Given the description of an element on the screen output the (x, y) to click on. 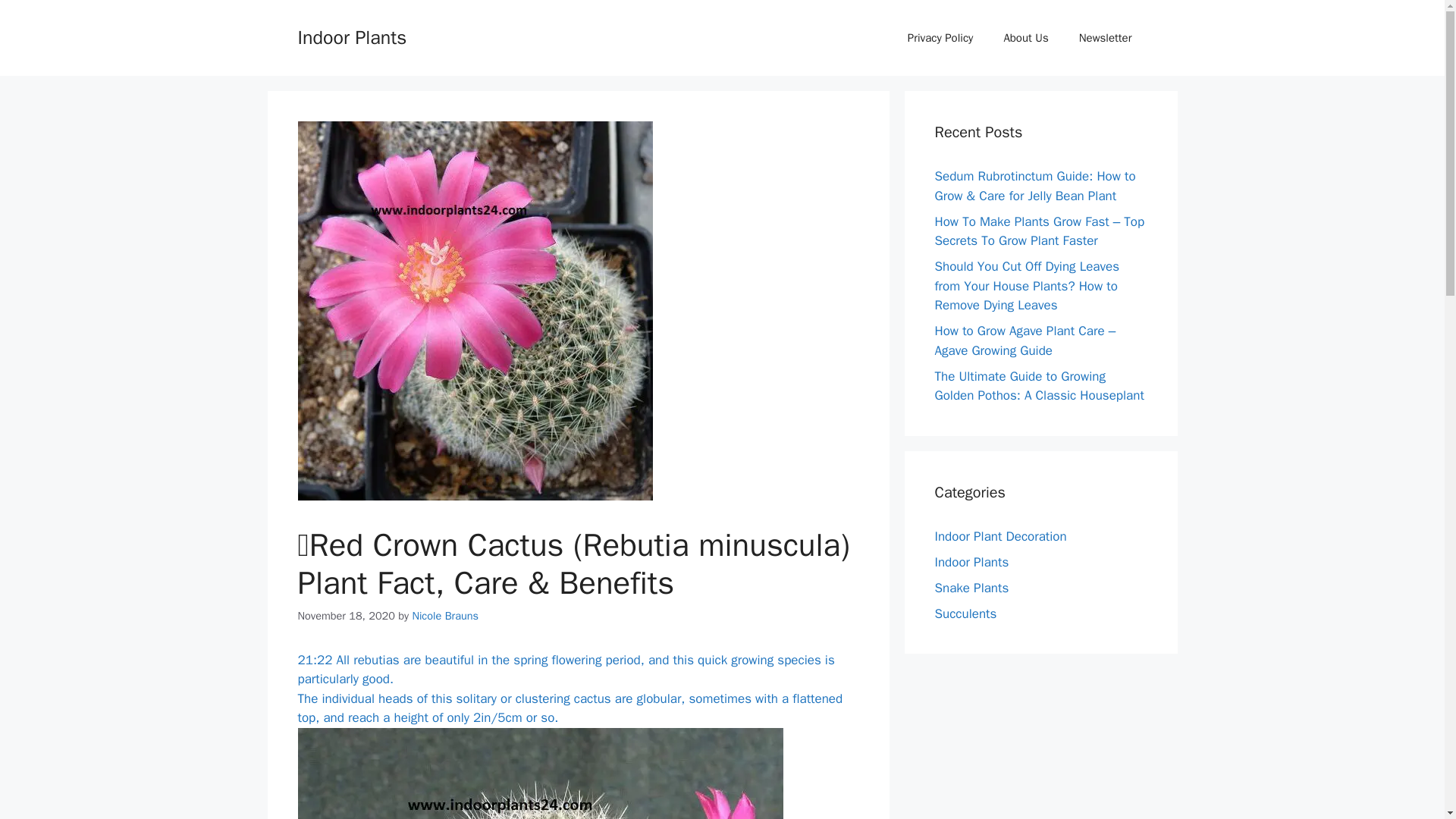
Newsletter (1105, 37)
Privacy Policy (940, 37)
21:22 (314, 659)
View all posts by Nicole Brauns (445, 615)
About Us (1025, 37)
Succulents (964, 612)
Snake Plants (971, 587)
permanent link (314, 659)
